Given the description of an element on the screen output the (x, y) to click on. 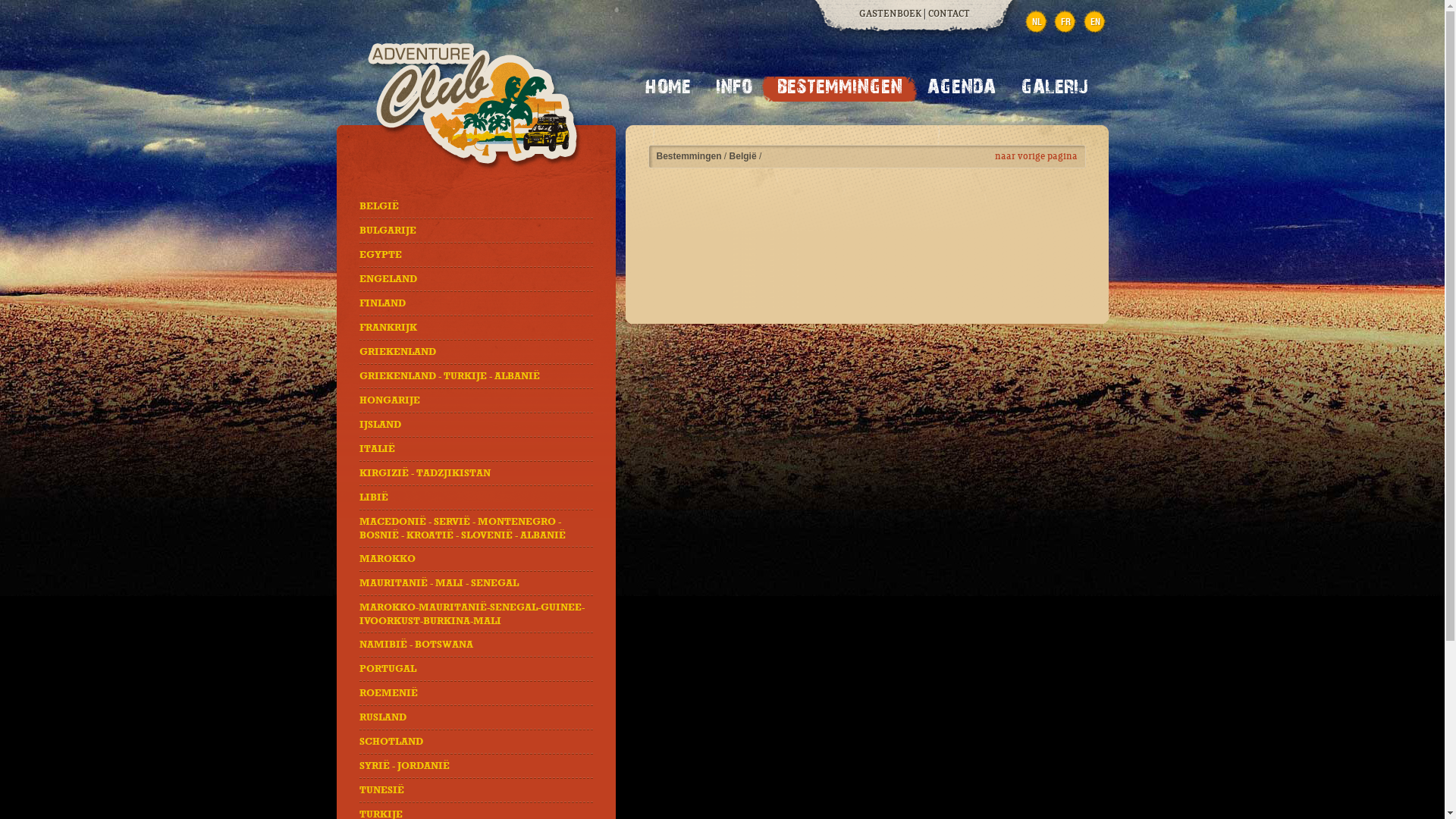
HONGARIJE Element type: text (389, 400)
MAROKKO Element type: text (387, 558)
IJSLAND Element type: text (380, 424)
EN Element type: text (1094, 22)
GRIEKENLAND Element type: text (397, 351)
CONTACT Element type: text (948, 13)
FINLAND Element type: text (382, 303)
GASTENBOEK Element type: text (890, 13)
GALERIJ Element type: text (1053, 88)
HOME Element type: text (667, 88)
naar vorige pagina Element type: text (1035, 156)
NL Element type: text (1036, 22)
RUSLAND Element type: text (382, 717)
EGYPTE Element type: text (380, 254)
PORTUGAL Element type: text (387, 668)
ENGELAND Element type: text (388, 278)
Bestemmingen Element type: text (688, 155)
FRANKRIJK Element type: text (388, 327)
SCHOTLAND Element type: text (391, 741)
FR Element type: text (1065, 22)
BESTEMMINGEN Element type: text (838, 88)
INFO Element type: text (733, 88)
AGENDA Element type: text (960, 88)
BULGARIJE Element type: text (387, 230)
